Given the description of an element on the screen output the (x, y) to click on. 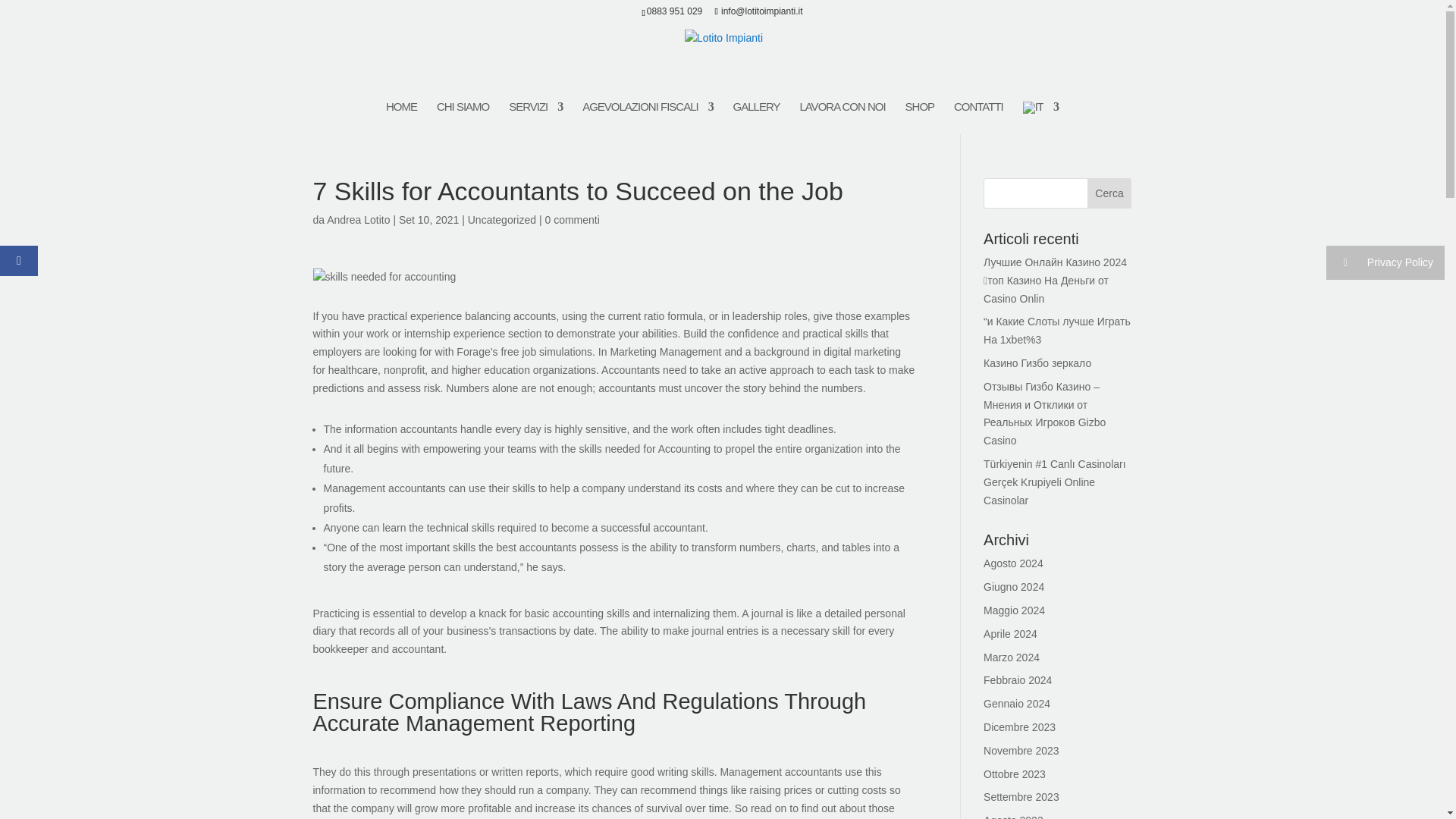
0 commenti (571, 219)
CONTATTI (978, 113)
SERVIZI (535, 113)
Andrea Lotito (358, 219)
HOME (400, 113)
Agosto 2024 (1013, 563)
Giugno 2024 (1013, 586)
Marzo 2024 (1011, 657)
Aprile 2024 (1010, 633)
Gennaio 2024 (1016, 703)
